Given the description of an element on the screen output the (x, y) to click on. 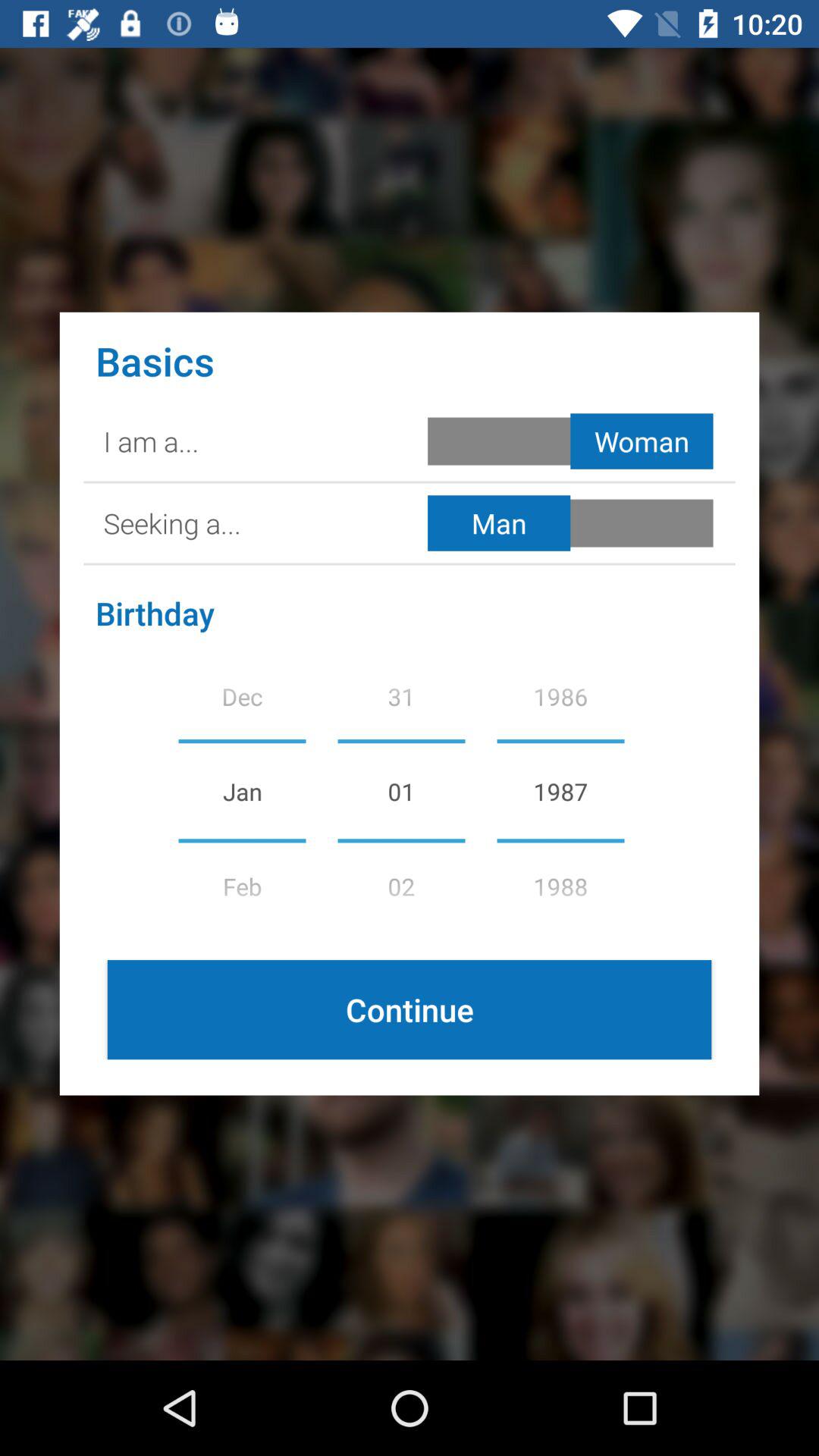
address page (573, 523)
